Given the description of an element on the screen output the (x, y) to click on. 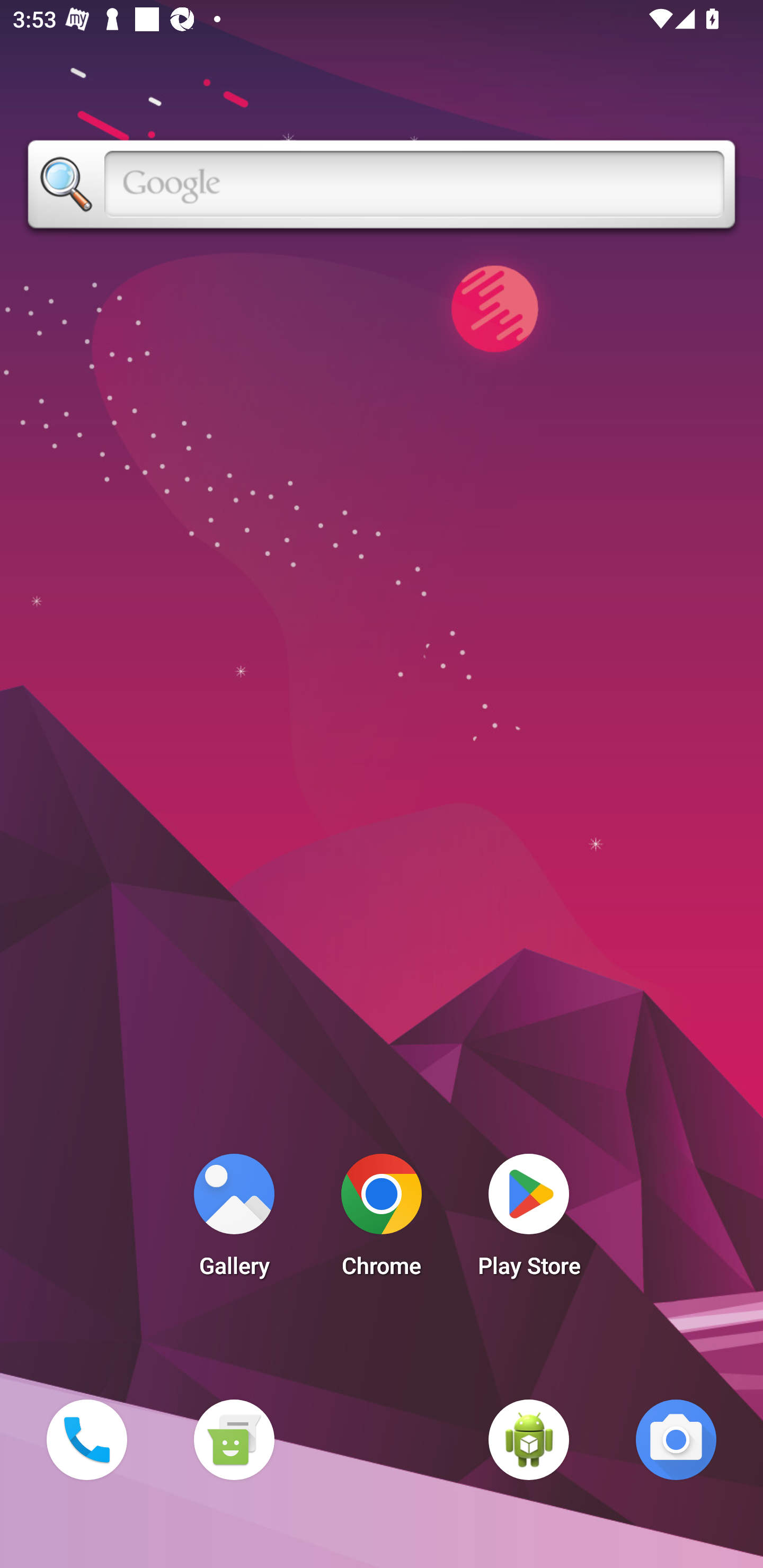
Gallery (233, 1220)
Chrome (381, 1220)
Play Store (528, 1220)
Phone (86, 1439)
Messaging (233, 1439)
WebView Browser Tester (528, 1439)
Camera (676, 1439)
